Given the description of an element on the screen output the (x, y) to click on. 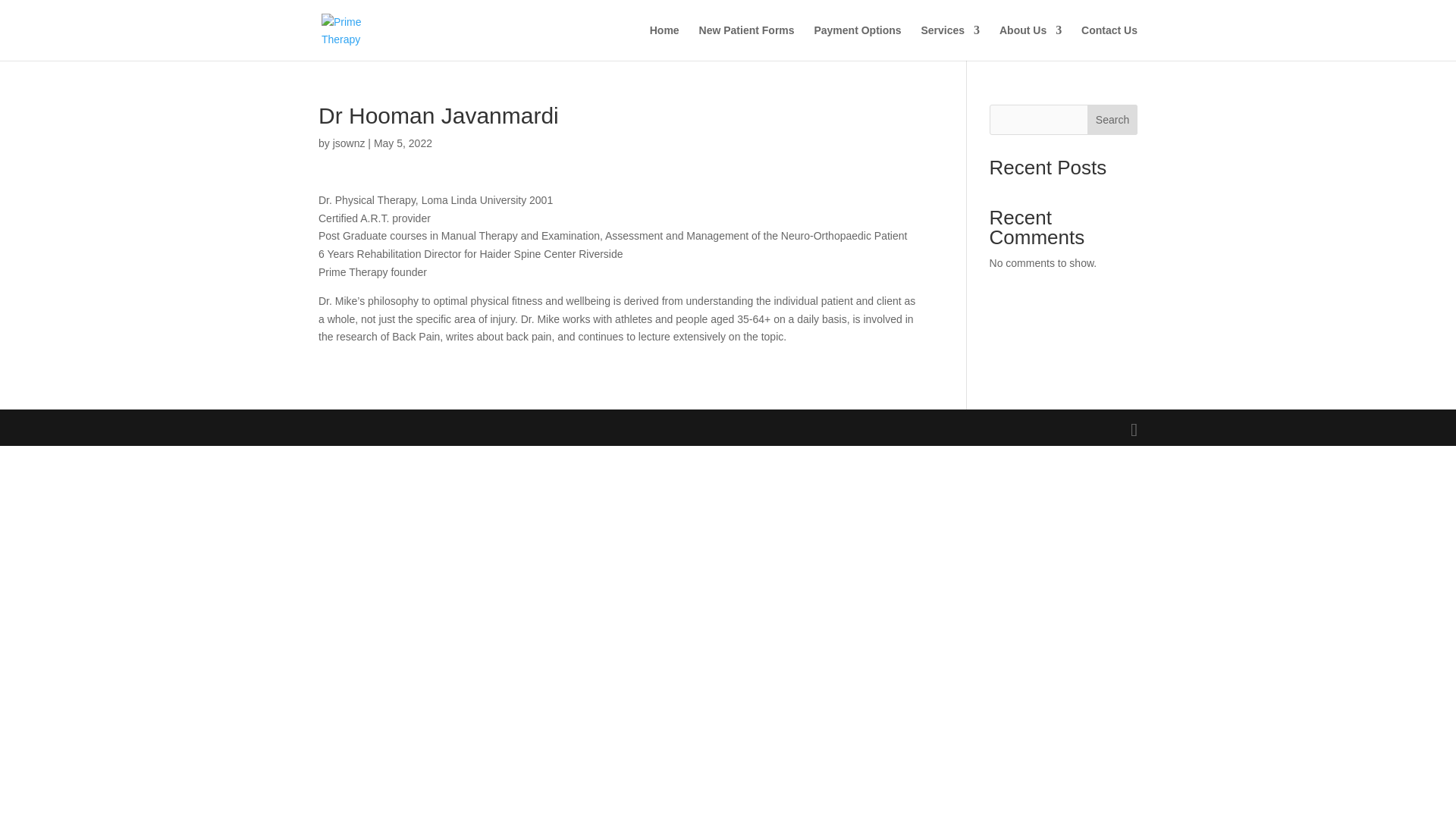
Payment Options (857, 42)
New Patient Forms (746, 42)
jsownz (349, 143)
About Us (1029, 42)
Posts by jsownz (349, 143)
Search (1112, 119)
Services (949, 42)
Contact Us (1109, 42)
